Given the description of an element on the screen output the (x, y) to click on. 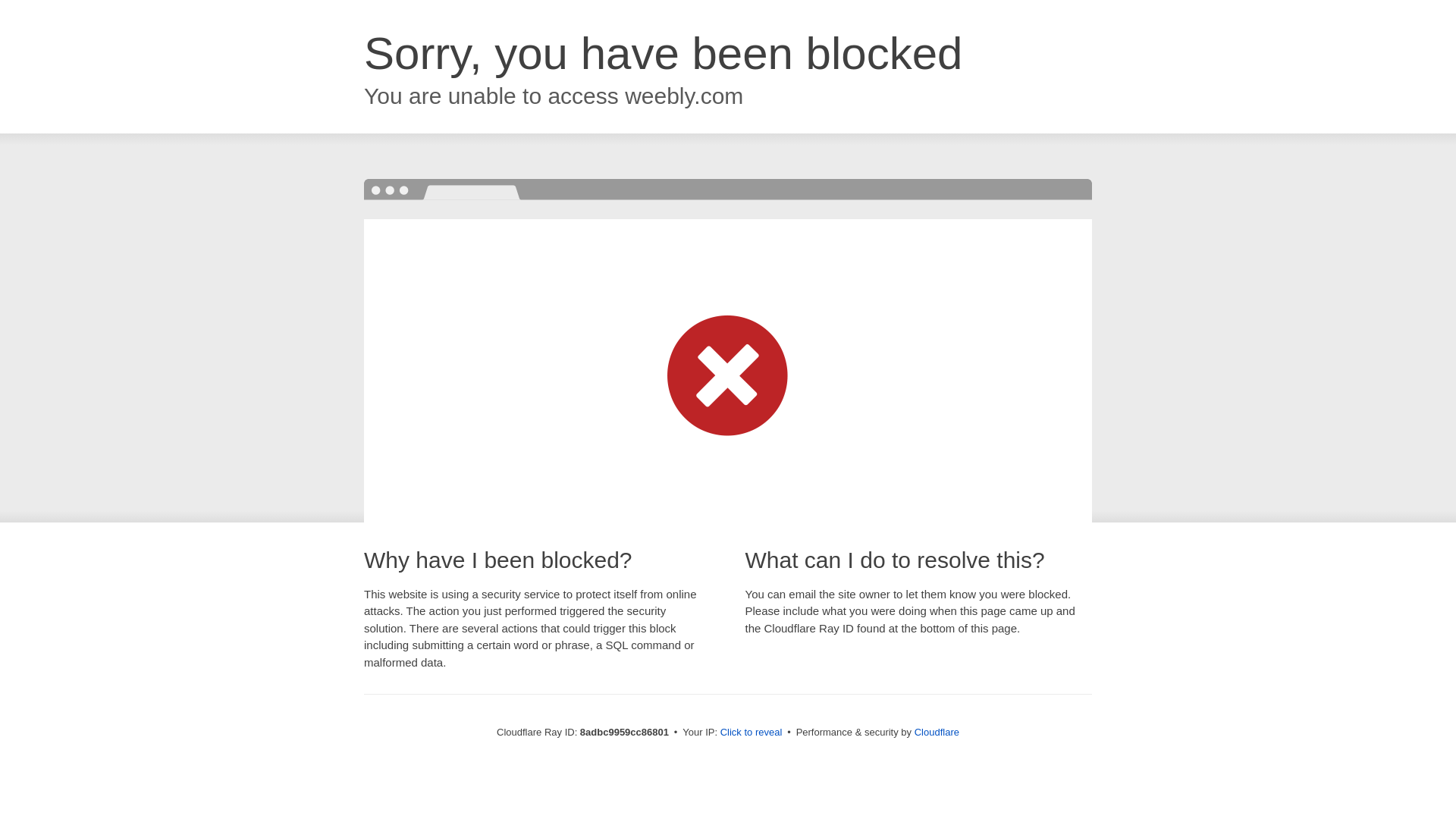
Click to reveal (751, 732)
Cloudflare (936, 731)
